Given the description of an element on the screen output the (x, y) to click on. 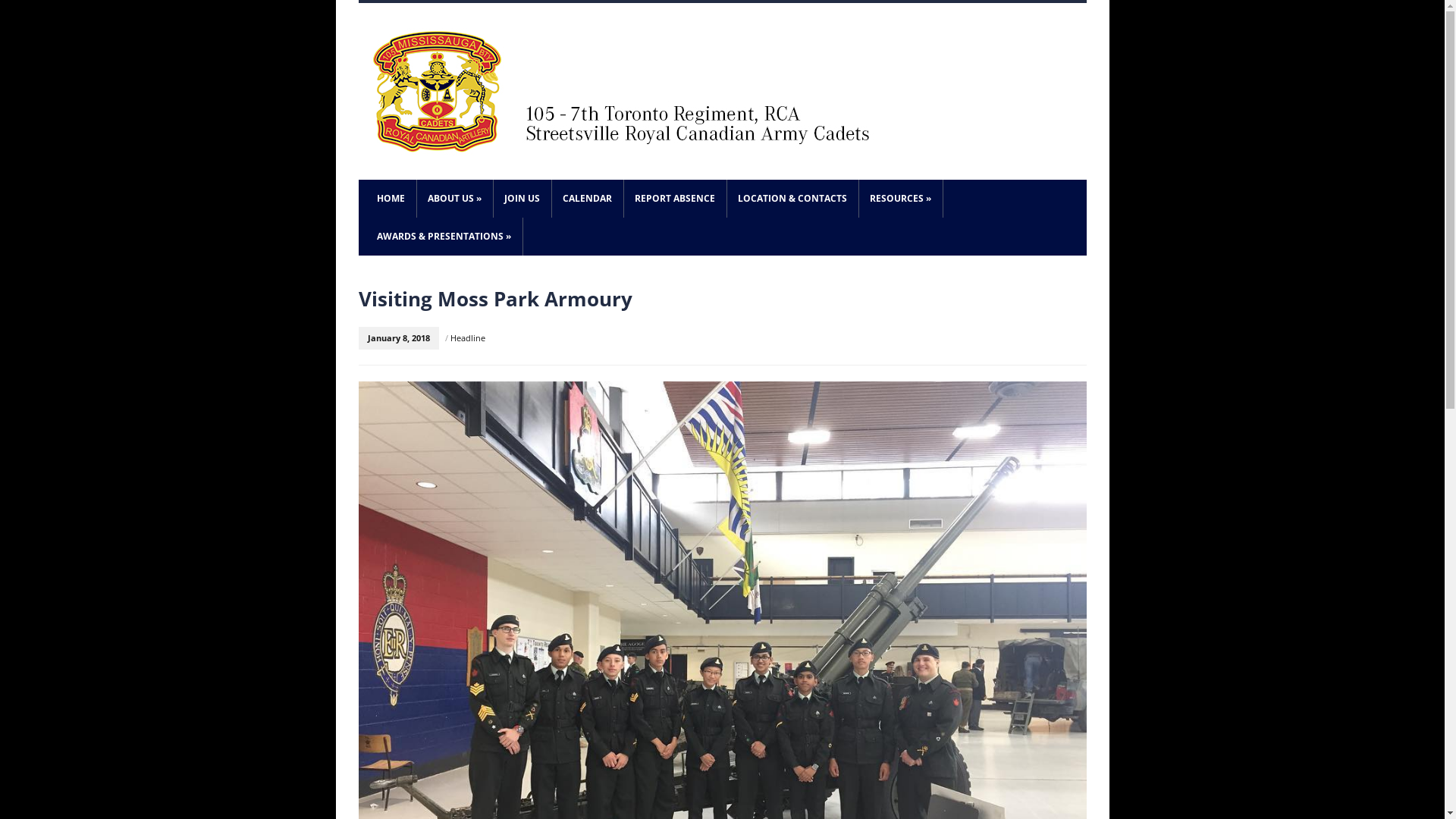
JOIN US Element type: text (521, 198)
REPORT ABSENCE Element type: text (674, 198)
Headline Element type: text (467, 337)
HOME Element type: text (390, 198)
LOCATION & CONTACTS Element type: text (791, 198)
CALENDAR Element type: text (587, 198)
